Given the description of an element on the screen output the (x, y) to click on. 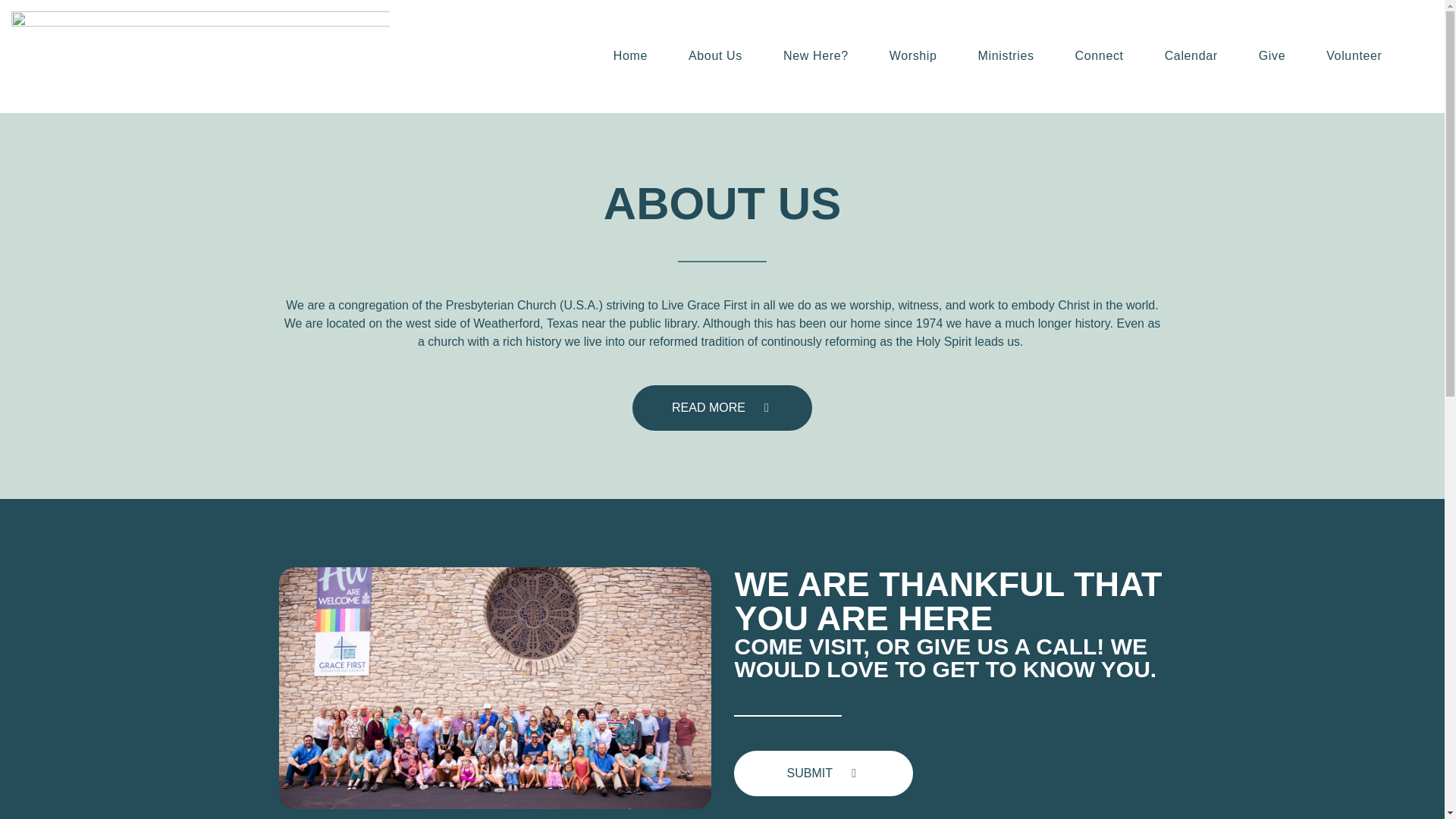
SUBMIT (823, 773)
Ministries (1005, 55)
About Us (715, 55)
Home (629, 55)
New Here? (815, 55)
Connect (1099, 55)
READ MORE (721, 407)
Calendar (1190, 55)
Volunteer (1353, 55)
Give (1272, 55)
